Given the description of an element on the screen output the (x, y) to click on. 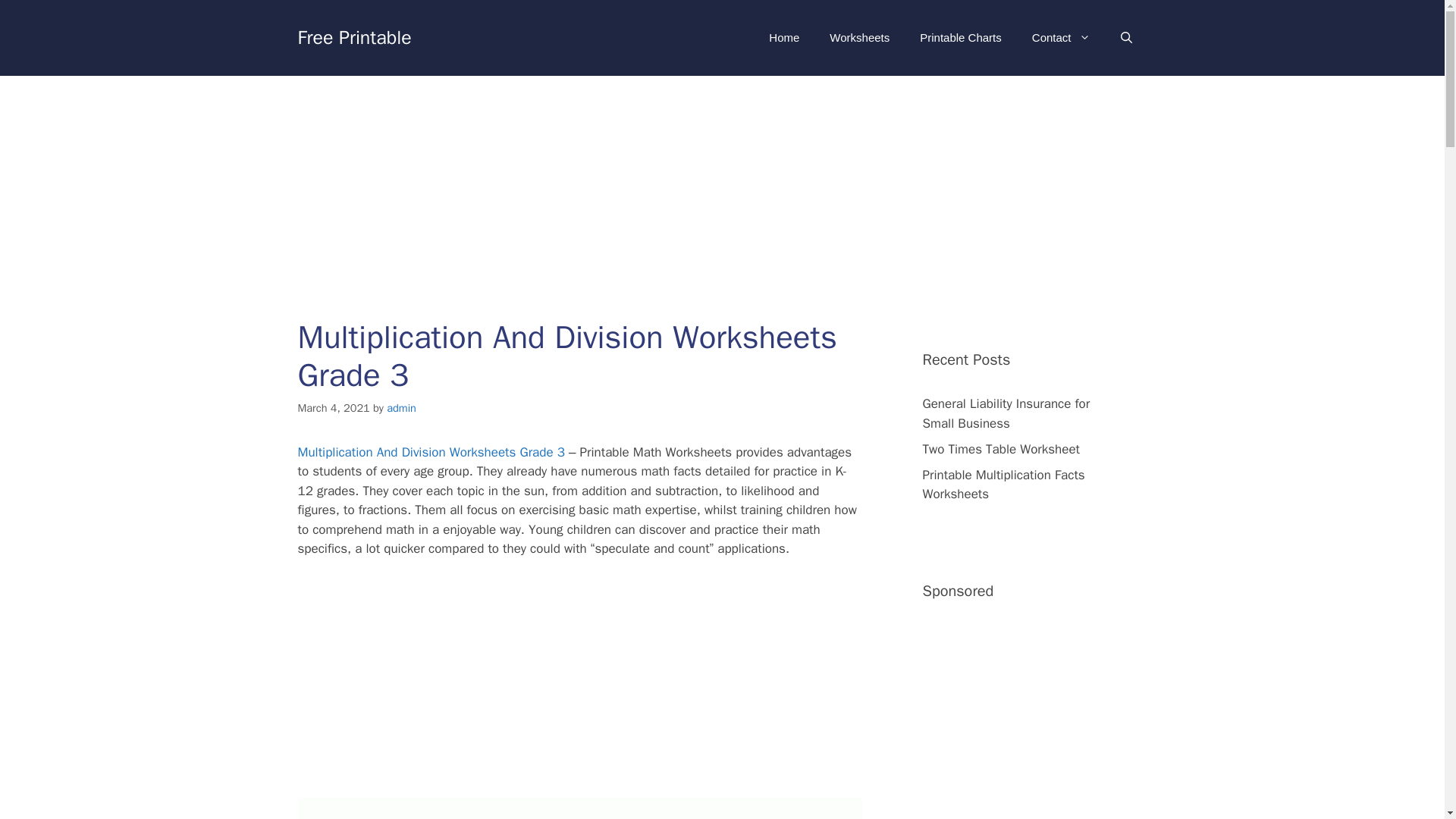
Multiplication And Division Worksheets Grade 3 (430, 452)
View all posts by admin (401, 407)
admin (401, 407)
Printable Charts (960, 37)
Free Printable (353, 37)
Worksheets (858, 37)
Contact (1060, 37)
Home (783, 37)
